Given the description of an element on the screen output the (x, y) to click on. 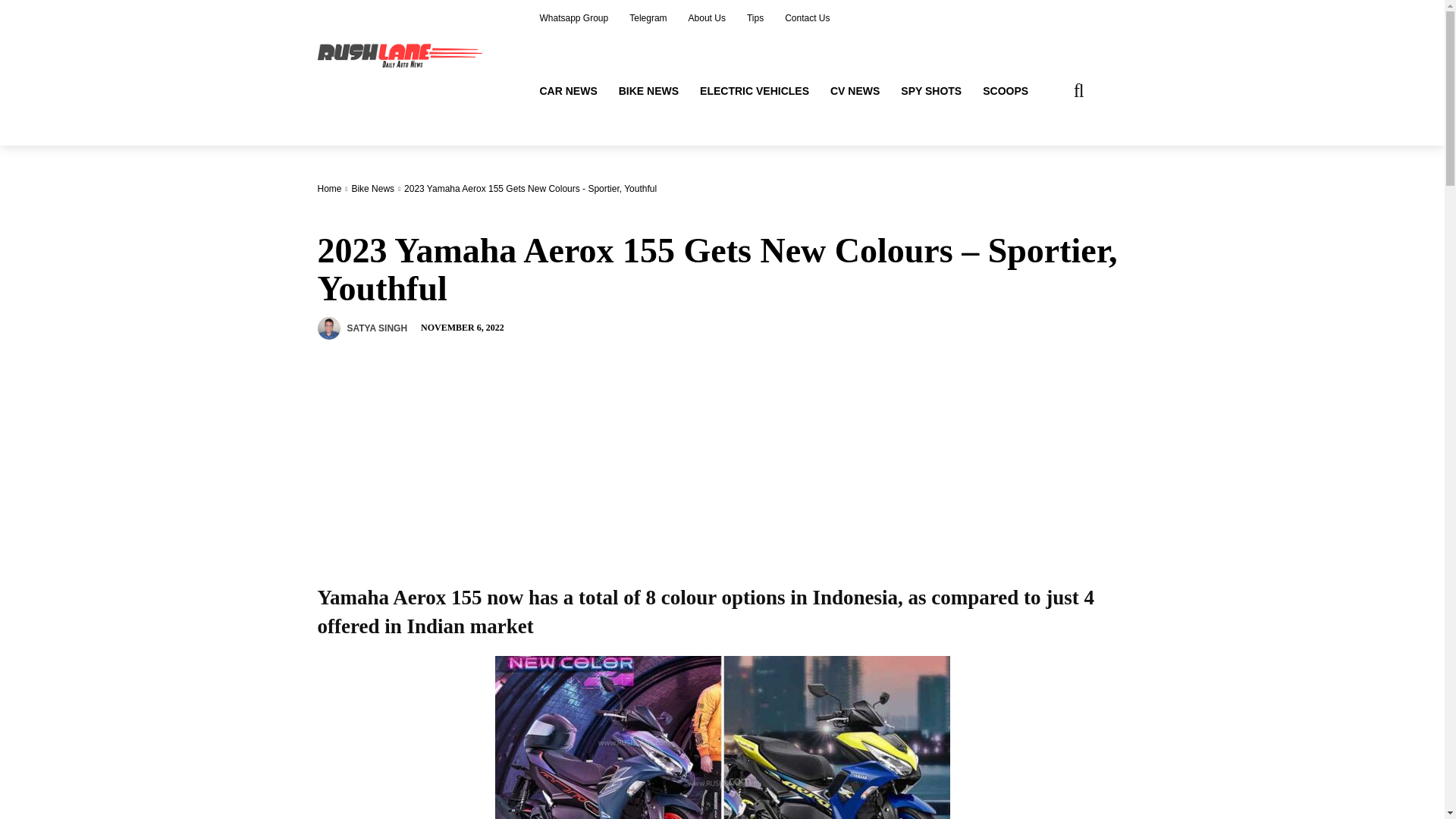
SPY SHOTS (930, 90)
rushlane logo (401, 53)
Tips (755, 18)
View all posts in Bike News (372, 188)
Bike News (372, 188)
ELECTRIC VEHICLES (753, 90)
rushlane logo (404, 53)
Telegram (647, 18)
CAR NEWS (568, 90)
BIKE NEWS (648, 90)
Contact Us (807, 18)
Whatsapp Group (574, 18)
SCOOPS (1005, 90)
CV NEWS (854, 90)
About Us (707, 18)
